Given the description of an element on the screen output the (x, y) to click on. 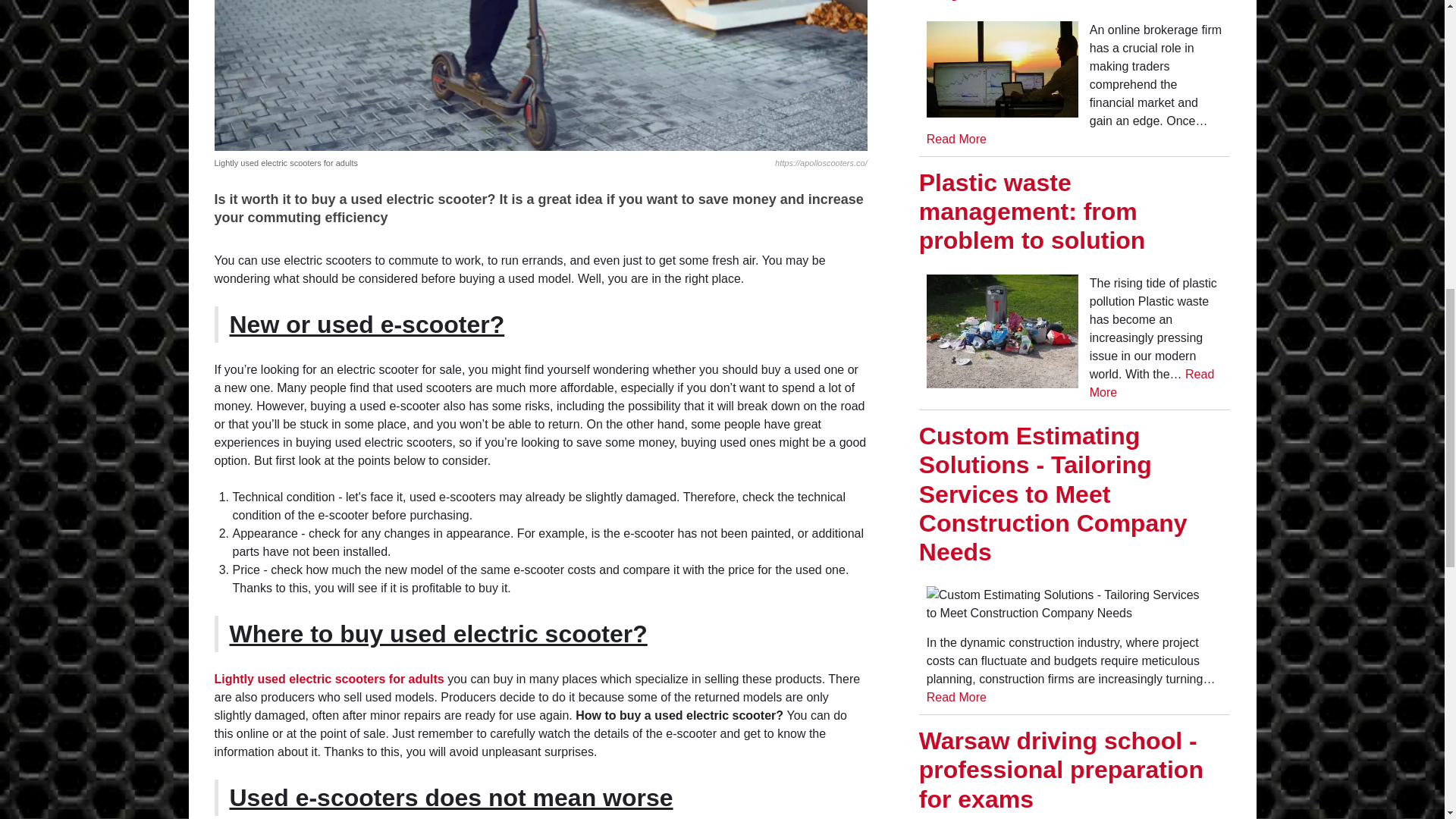
Warsaw driving school - professional preparation for exams (1061, 770)
Lightly used electric scooters for adults (329, 678)
Plastic waste management: from problem to solution (1031, 211)
Read More (1151, 382)
Read More (956, 697)
Read More (956, 138)
